Given the description of an element on the screen output the (x, y) to click on. 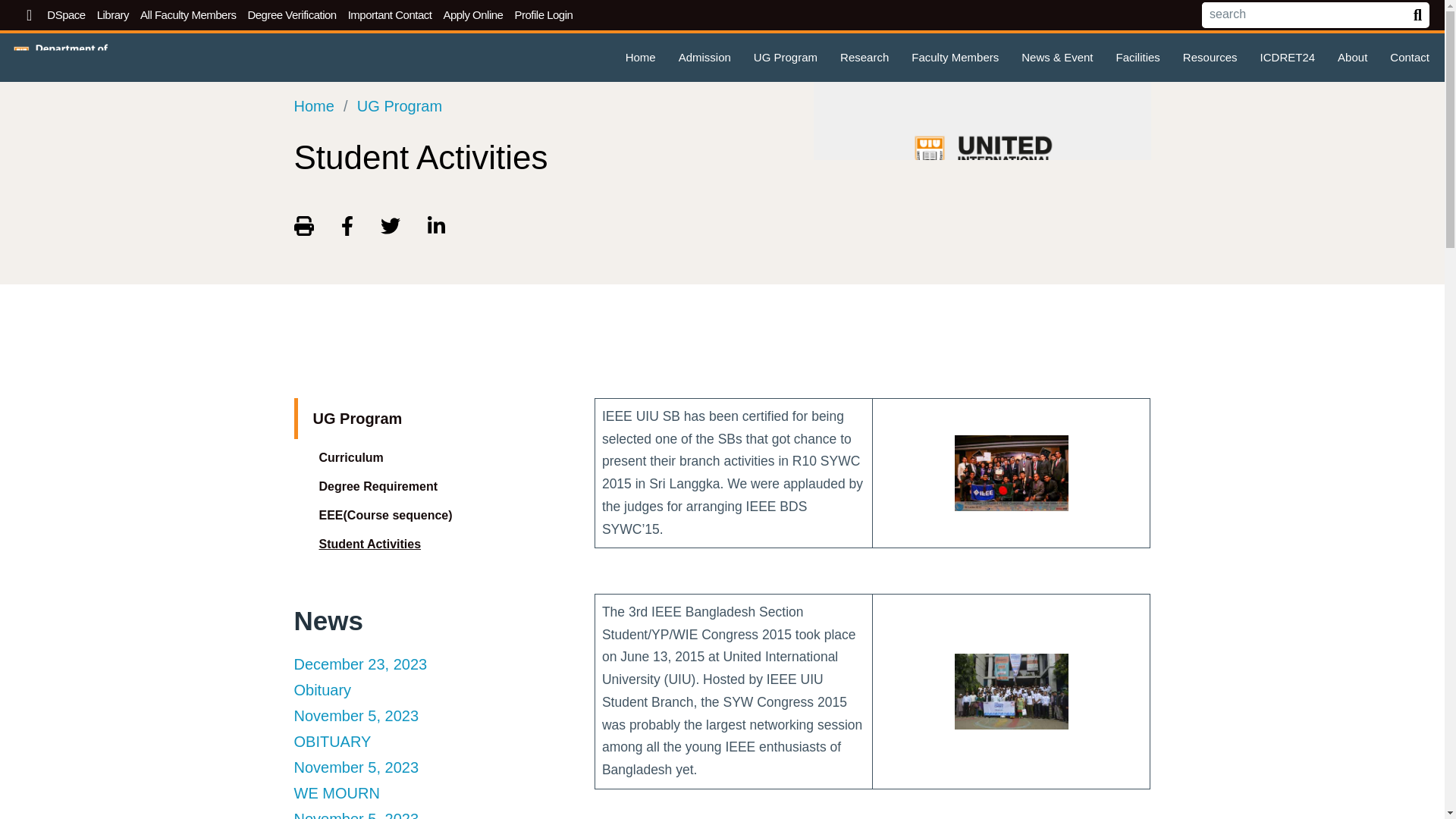
Resources (1209, 57)
Home (640, 57)
About (1352, 57)
Profile Login (542, 18)
Apply Online (473, 18)
Degree Verification (291, 18)
Research (864, 57)
UG Program (785, 57)
ICDRET24 (1287, 57)
Faculty Members (955, 57)
